Given the description of an element on the screen output the (x, y) to click on. 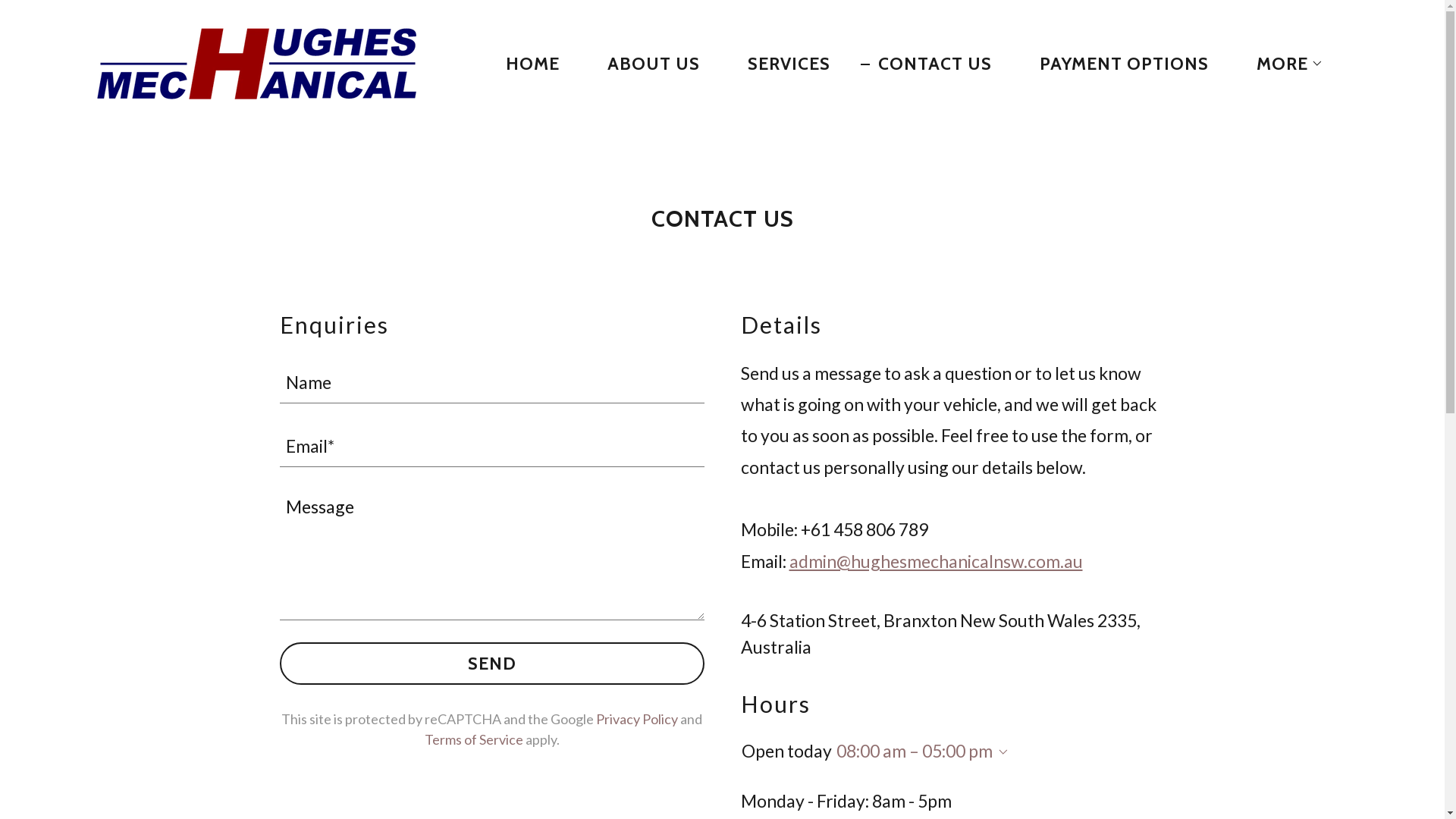
ABOUT US Element type: text (644, 63)
Privacy Policy Element type: text (636, 717)
PAYMENT OPTIONS Element type: text (1115, 63)
SERVICES Element type: text (779, 63)
admin@hughesmechanicalnsw.com.au Element type: text (935, 560)
CONTACT US Element type: text (925, 63)
SEND Element type: text (491, 662)
Terms of Service Element type: text (473, 739)
HOME Element type: text (523, 63)
MORE Element type: text (1281, 63)
Hughes Mechanical Element type: hover (255, 61)
